Given the description of an element on the screen output the (x, y) to click on. 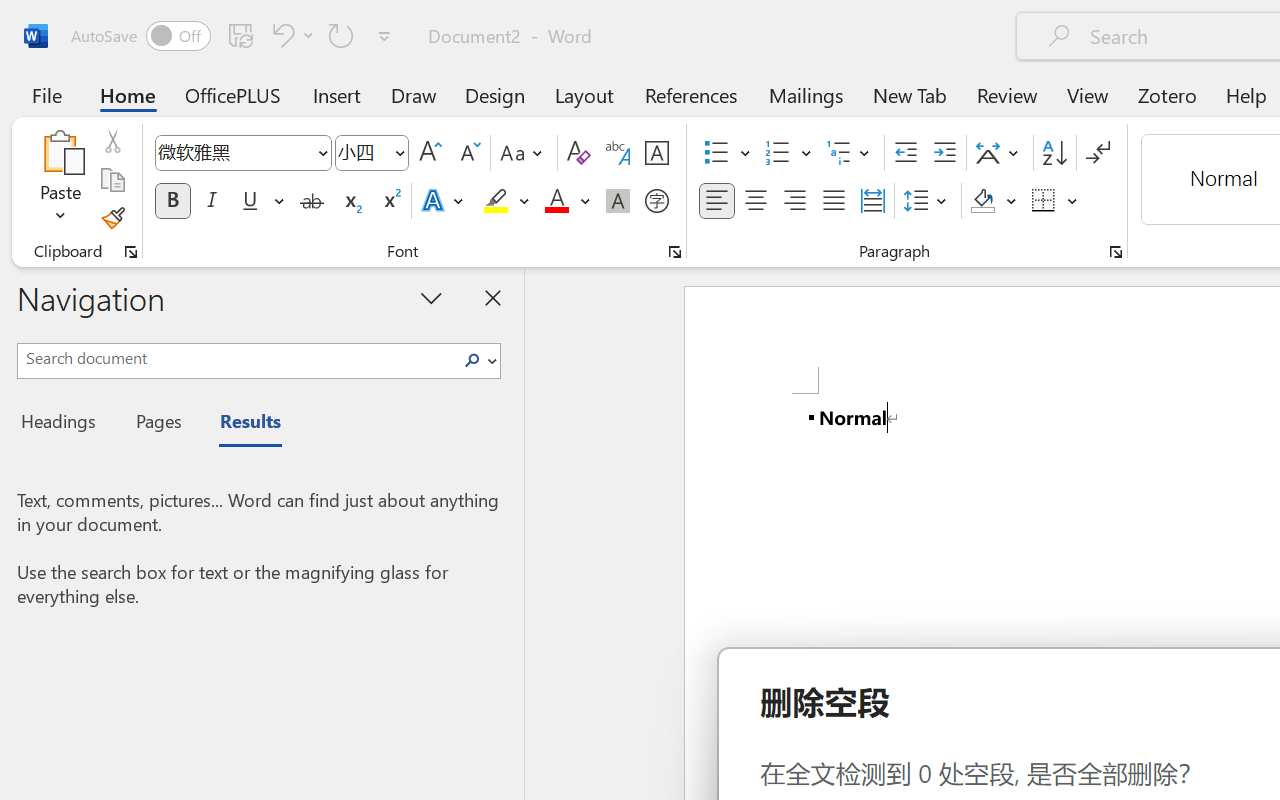
Font Color Red (556, 201)
Grow Font (430, 153)
Change Case (524, 153)
Draw (413, 94)
Task Pane Options (431, 297)
Text Highlight Color (506, 201)
Zotero (1166, 94)
Quick Access Toolbar (233, 36)
Bold (172, 201)
Phonetic Guide... (618, 153)
Bullets (727, 153)
Line and Paragraph Spacing (927, 201)
Review (1007, 94)
Underline (261, 201)
